Given the description of an element on the screen output the (x, y) to click on. 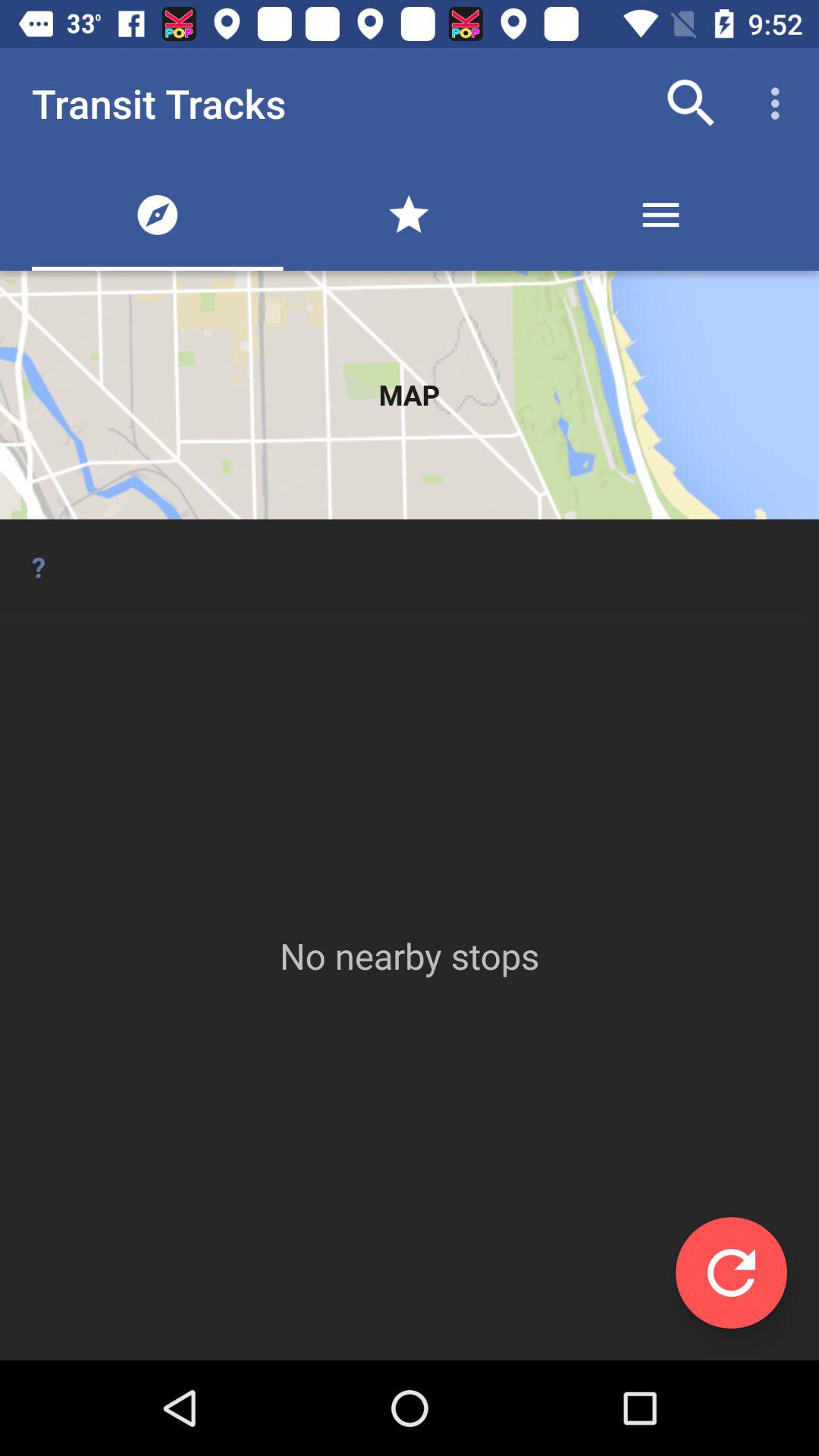
click to refresh option (731, 1272)
